Given the description of an element on the screen output the (x, y) to click on. 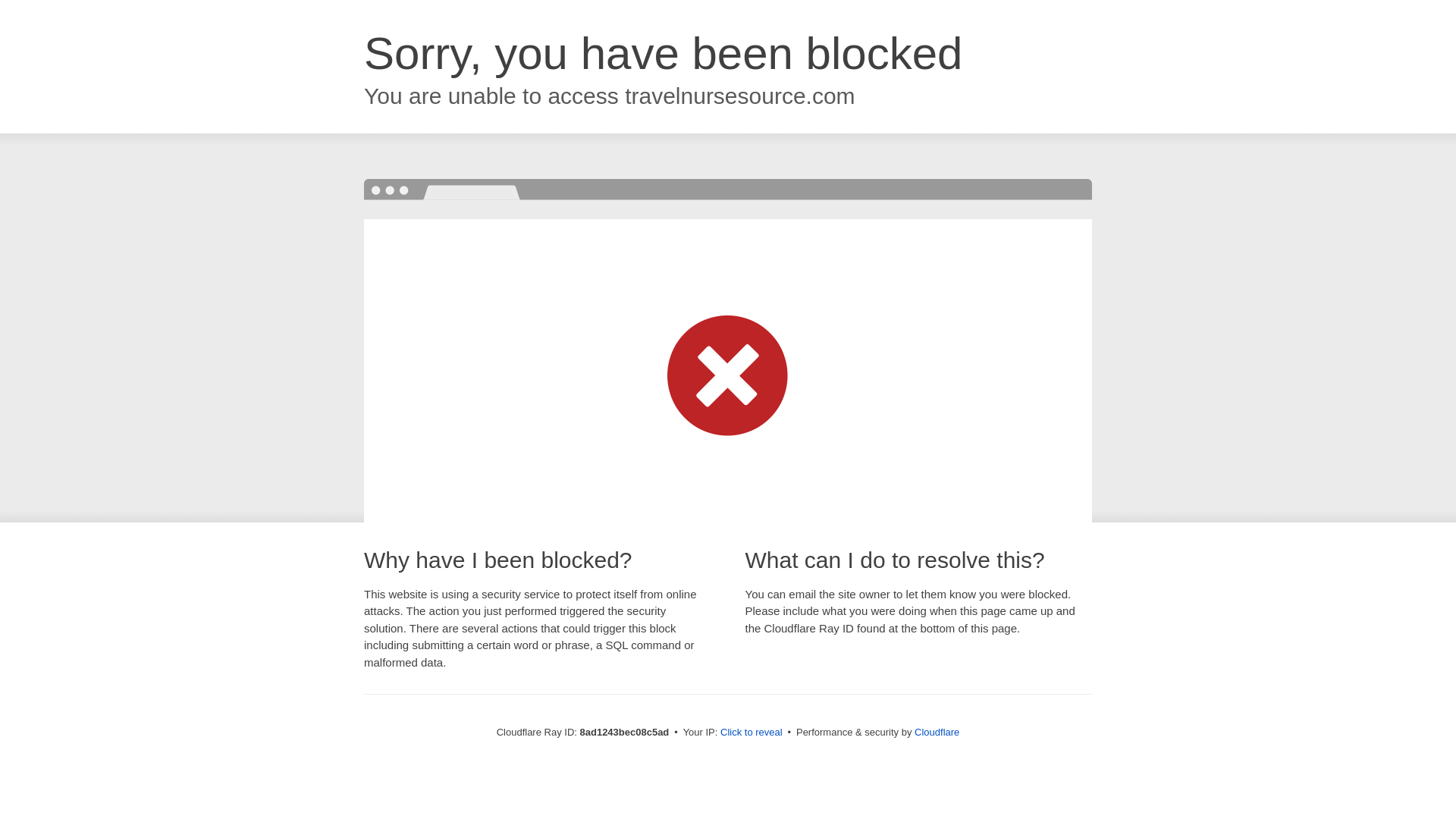
Click to reveal (751, 732)
Cloudflare (936, 731)
